Given the description of an element on the screen output the (x, y) to click on. 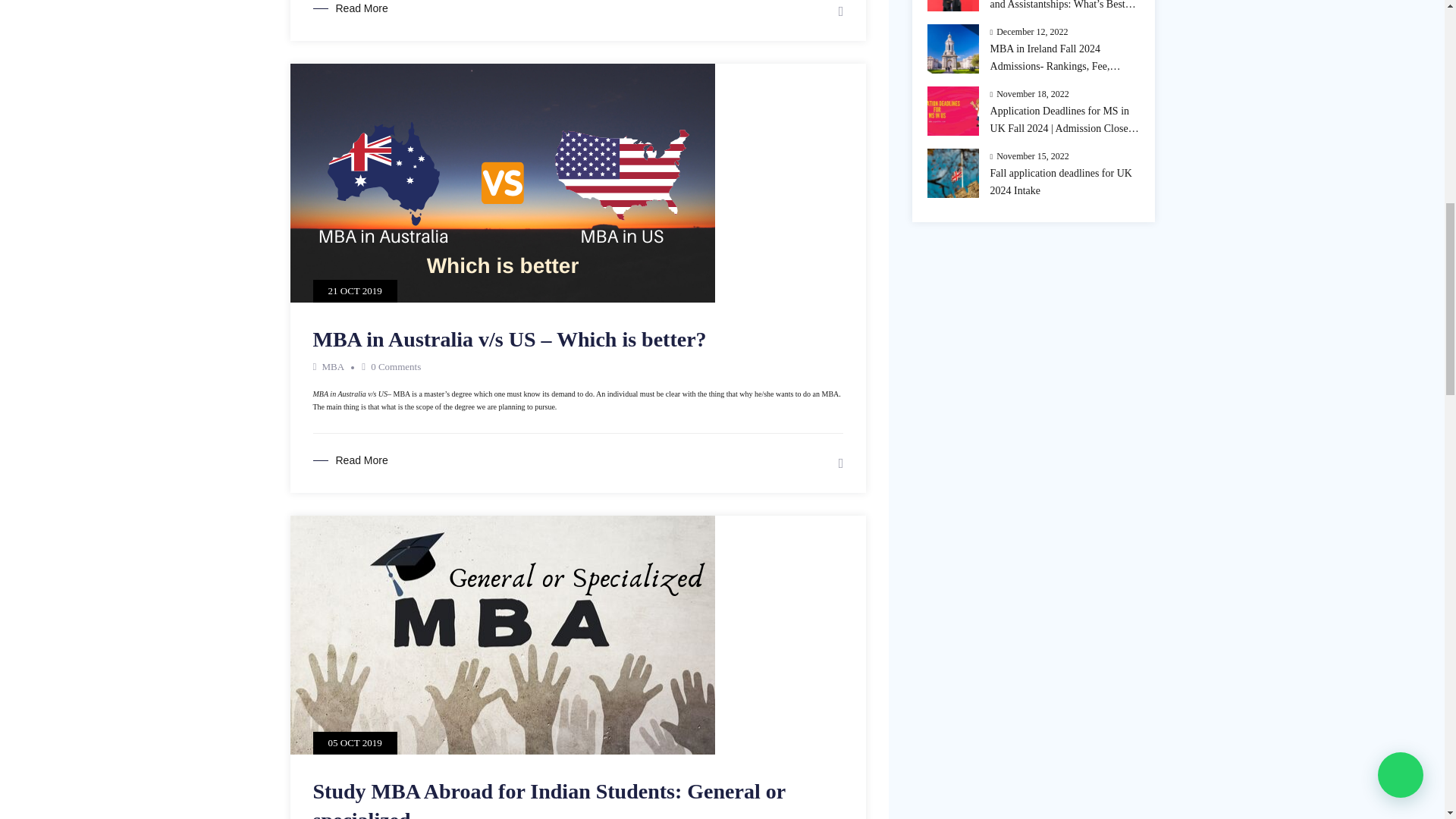
Read More (350, 8)
MBA (332, 366)
Read More (350, 459)
0 Comments (395, 366)
